Given the description of an element on the screen output the (x, y) to click on. 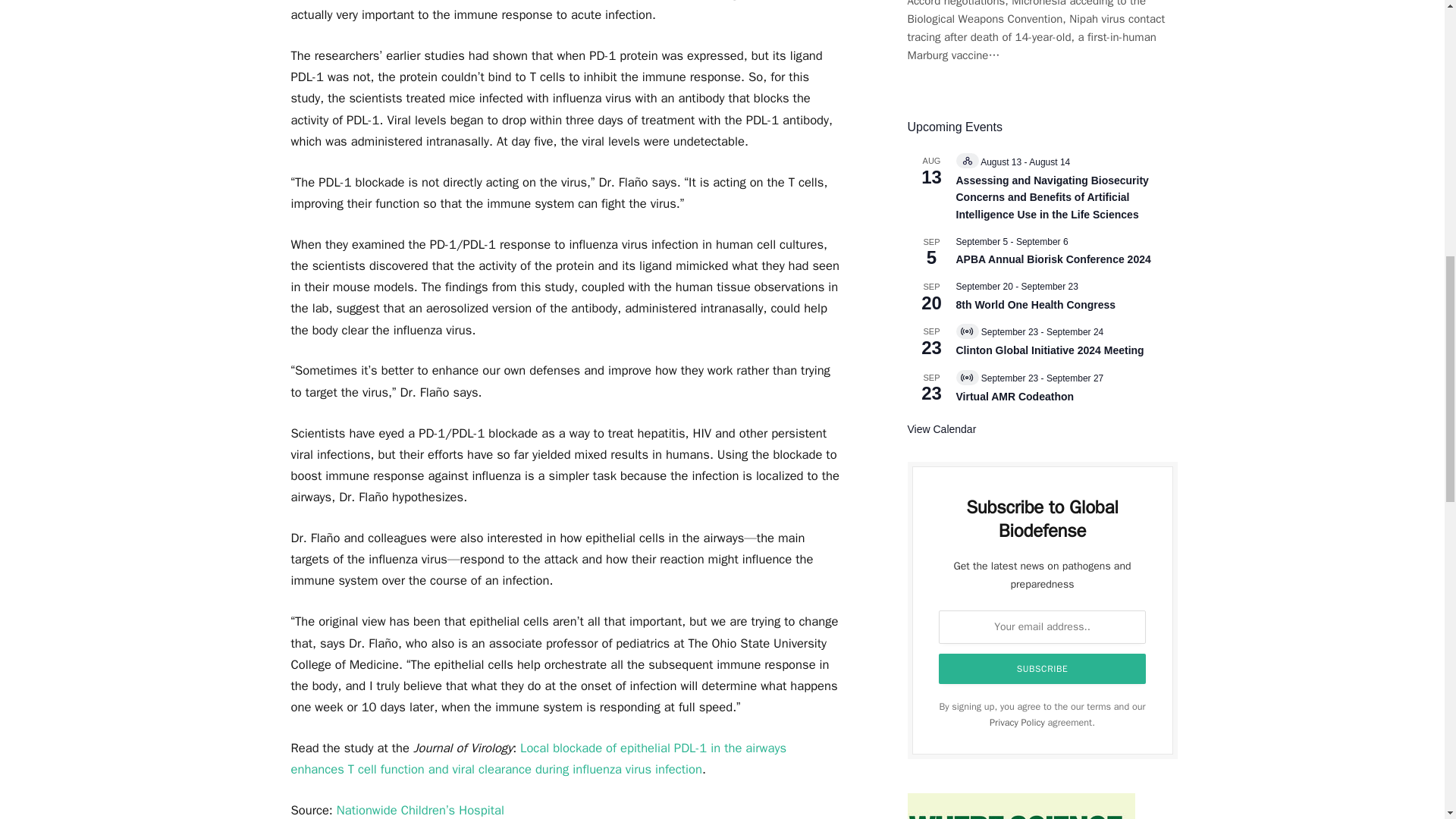
Hybrid (967, 160)
Nationwide Children's Hospital (419, 810)
Virtual Event (966, 377)
Virtual Event (966, 330)
Subscribe (1043, 668)
